Given the description of an element on the screen output the (x, y) to click on. 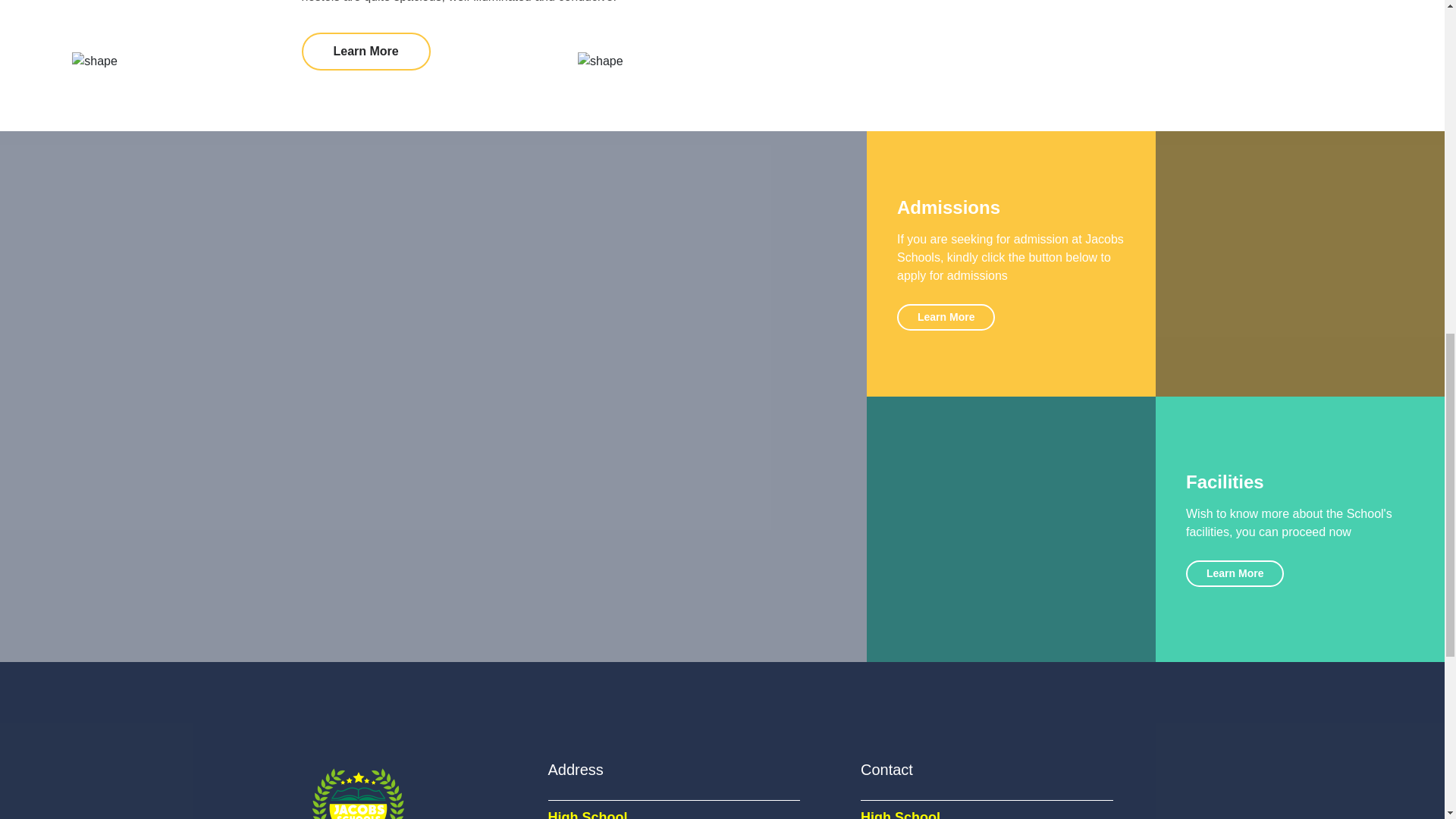
Facilities (1224, 482)
Learn More (945, 316)
Learn More (1235, 573)
Learn More (365, 51)
Admissions (948, 208)
